Given the description of an element on the screen output the (x, y) to click on. 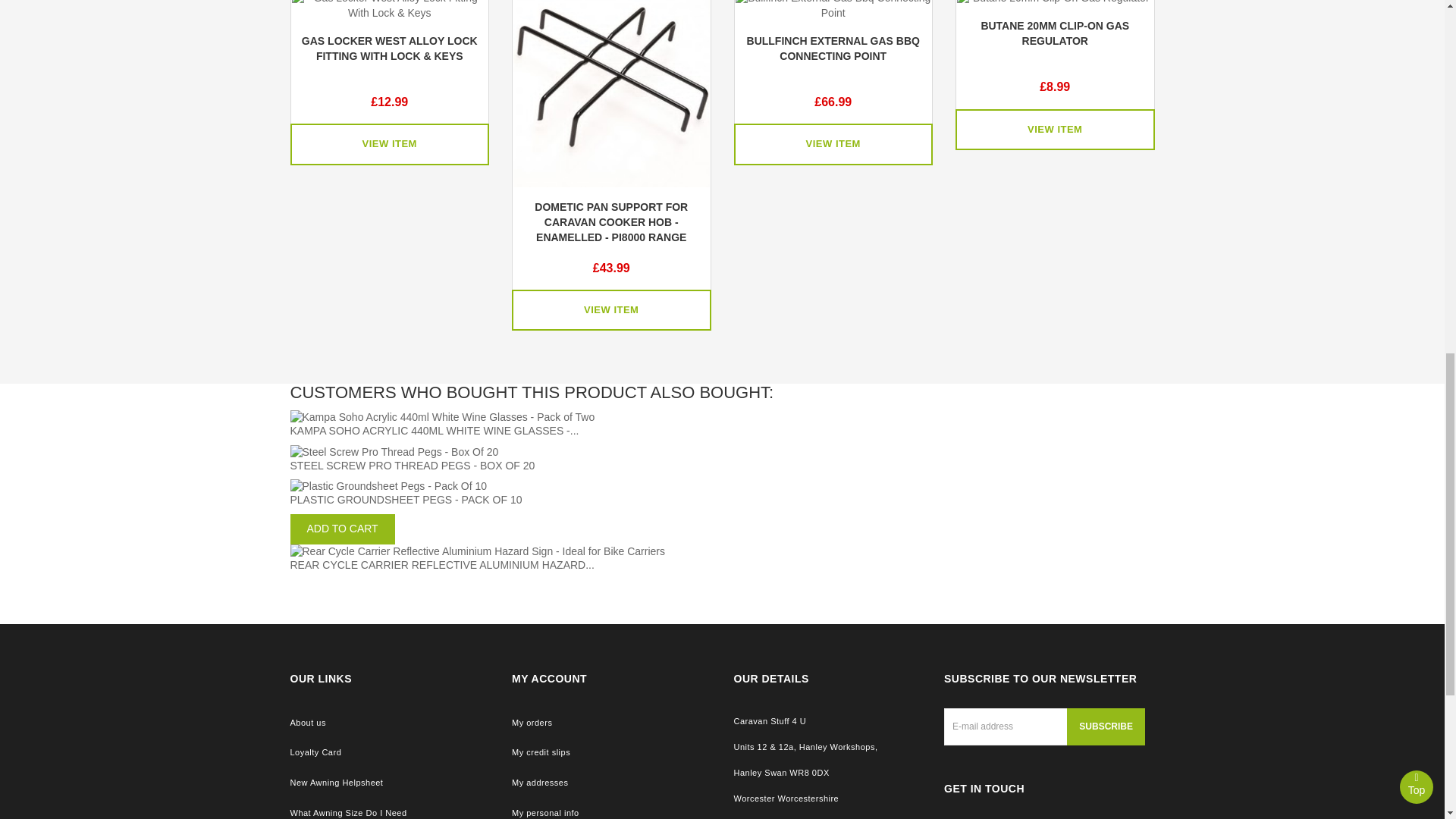
View (389, 144)
View (611, 310)
